Given the description of an element on the screen output the (x, y) to click on. 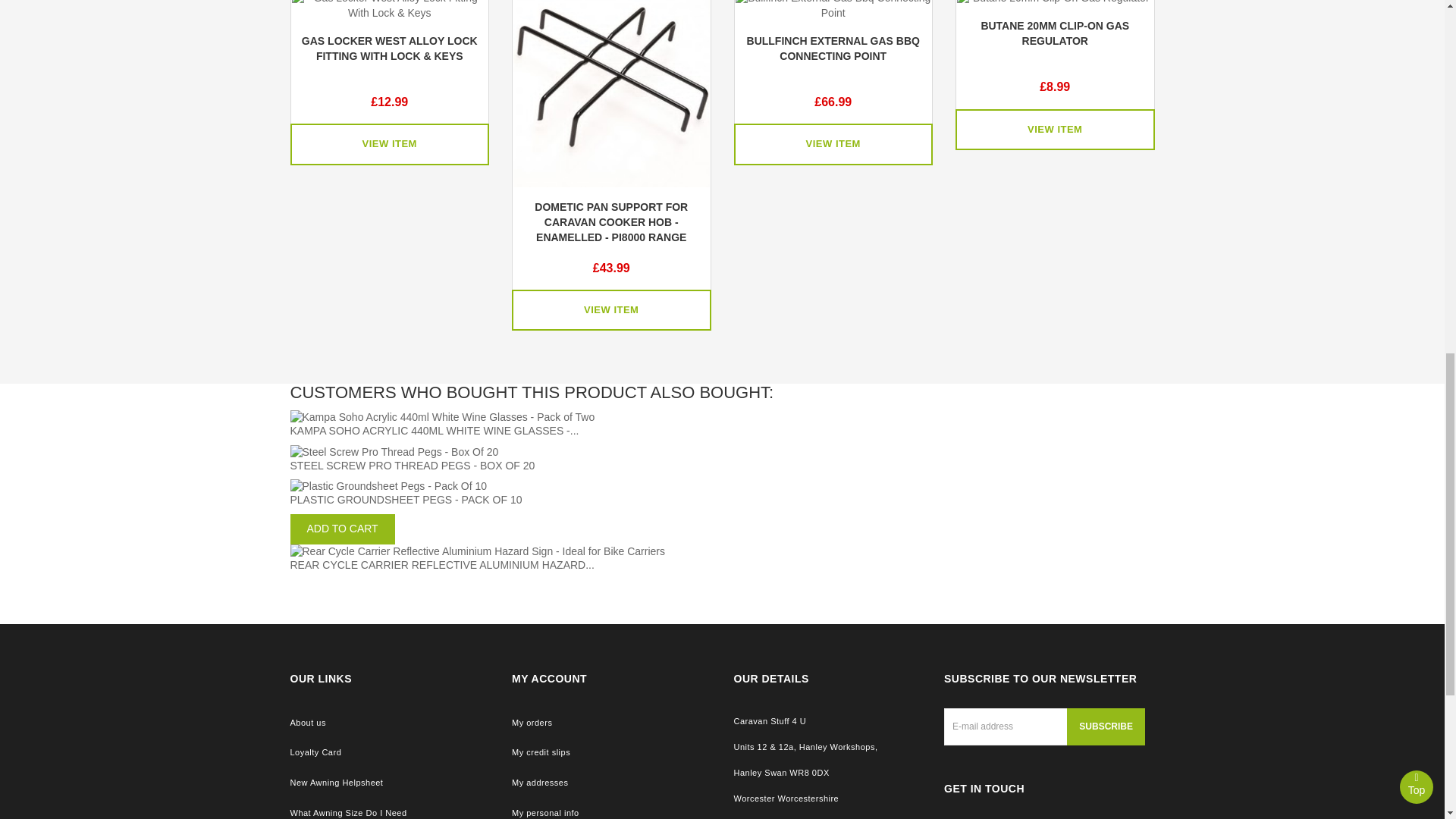
View (389, 144)
View (611, 310)
